Given the description of an element on the screen output the (x, y) to click on. 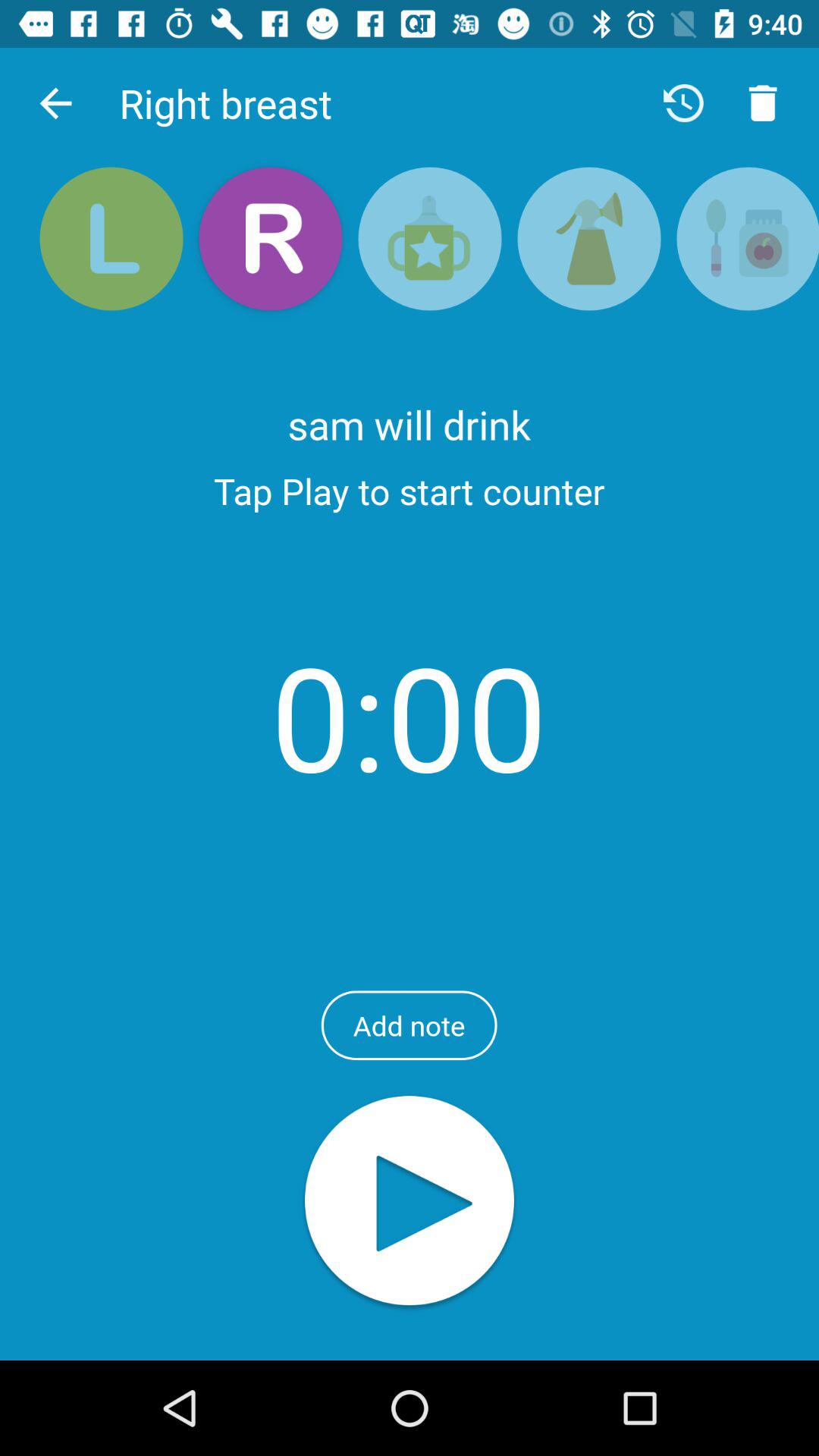
click the app to the left of the right breast item (55, 103)
